Given the description of an element on the screen output the (x, y) to click on. 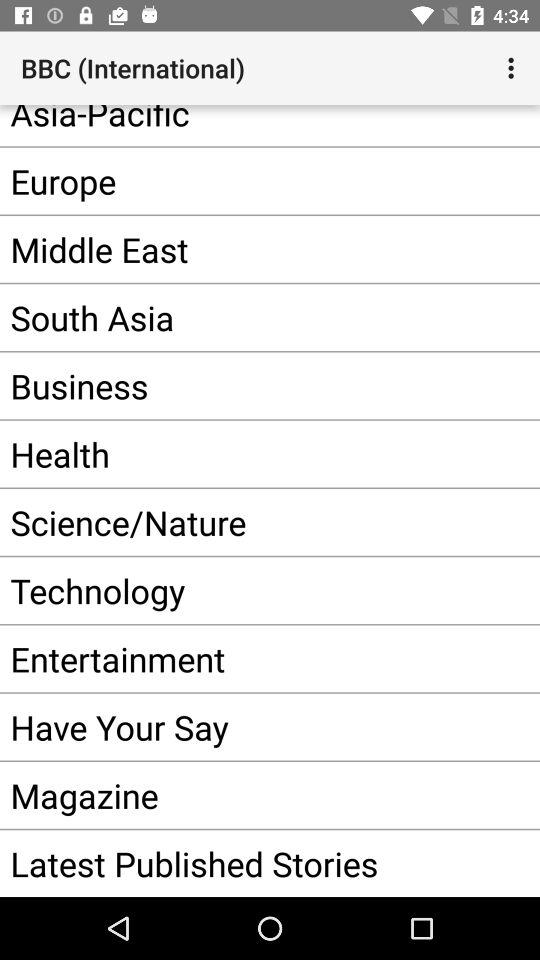
turn off europe item (240, 180)
